Given the description of an element on the screen output the (x, y) to click on. 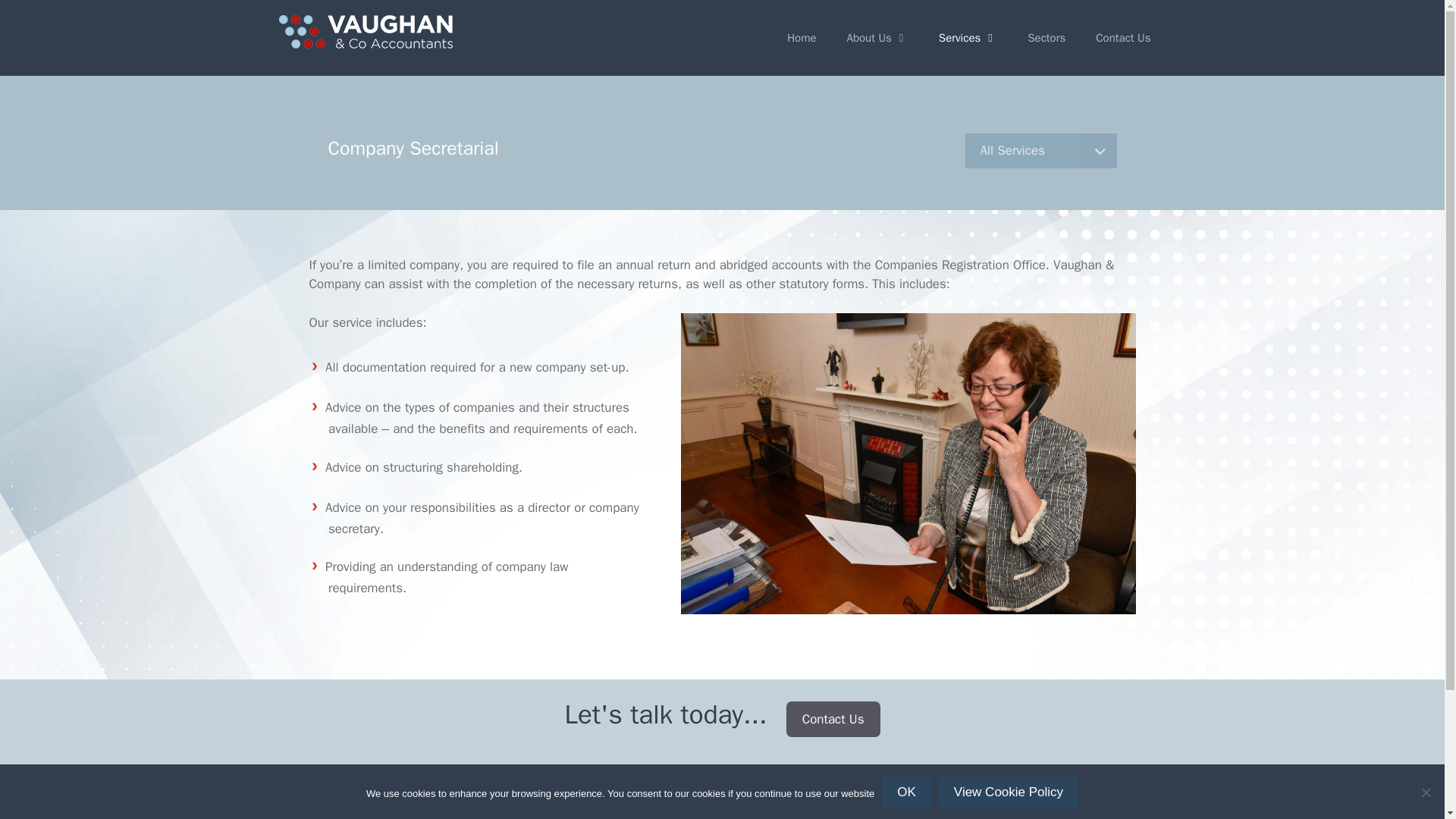
Services (967, 37)
About Us (877, 37)
Home (801, 37)
Contact Us (1123, 37)
No (1425, 792)
Sectors (1045, 37)
